Given the description of an element on the screen output the (x, y) to click on. 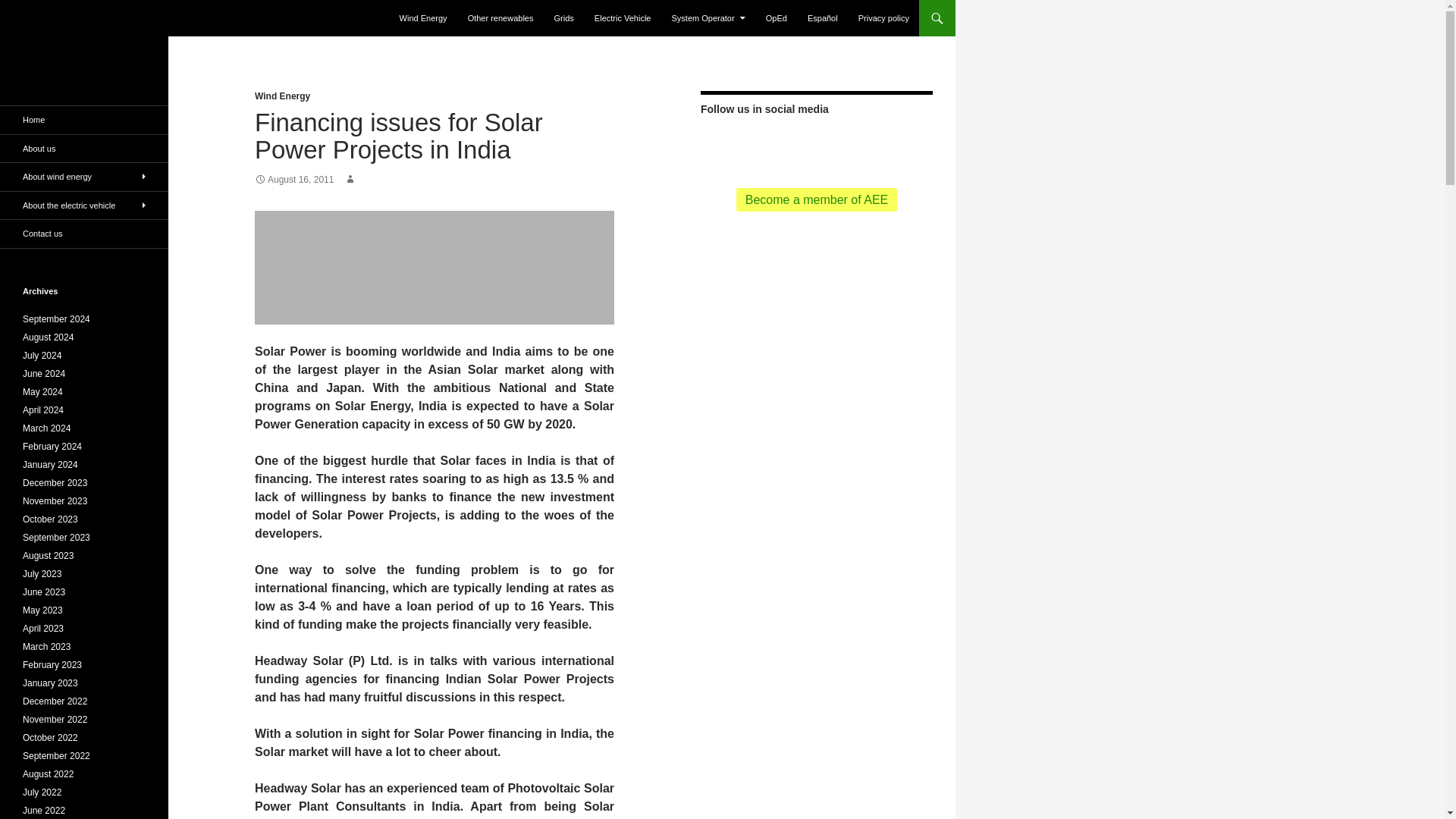
Instagram (889, 143)
Wind Energy (423, 18)
Tiktok (840, 143)
Become a member of AEE (817, 199)
Other renewables (500, 18)
Privacy policy (883, 18)
System Operator (708, 18)
flickr (816, 143)
Electric Vehicle (623, 18)
facebook (767, 143)
